Given the description of an element on the screen output the (x, y) to click on. 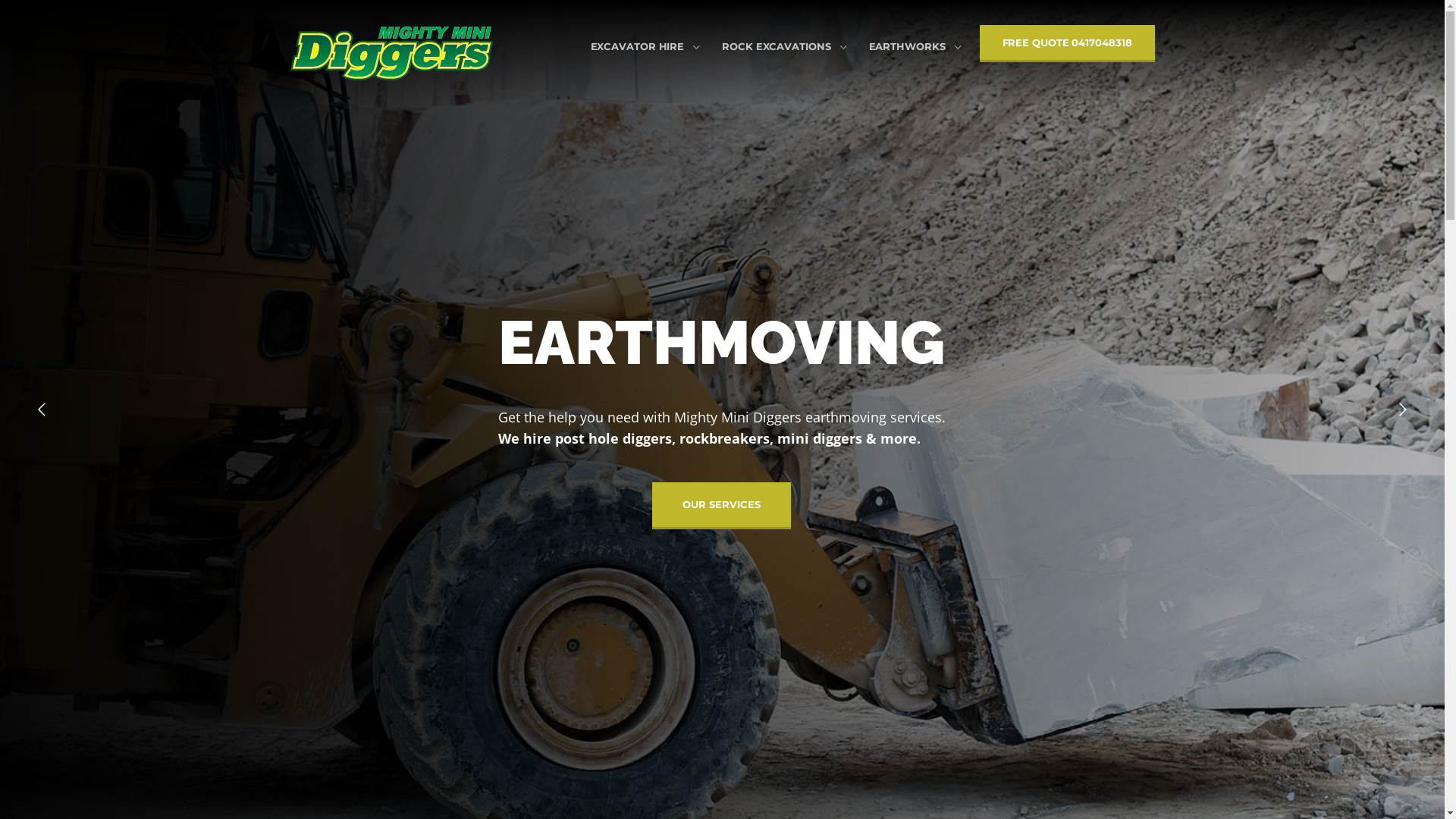
EARTHWORKS Element type: text (907, 46)
EXCAVATOR HIRE Element type: text (637, 46)
ROCK EXCAVATIONS Element type: text (775, 46)
